Given the description of an element on the screen output the (x, y) to click on. 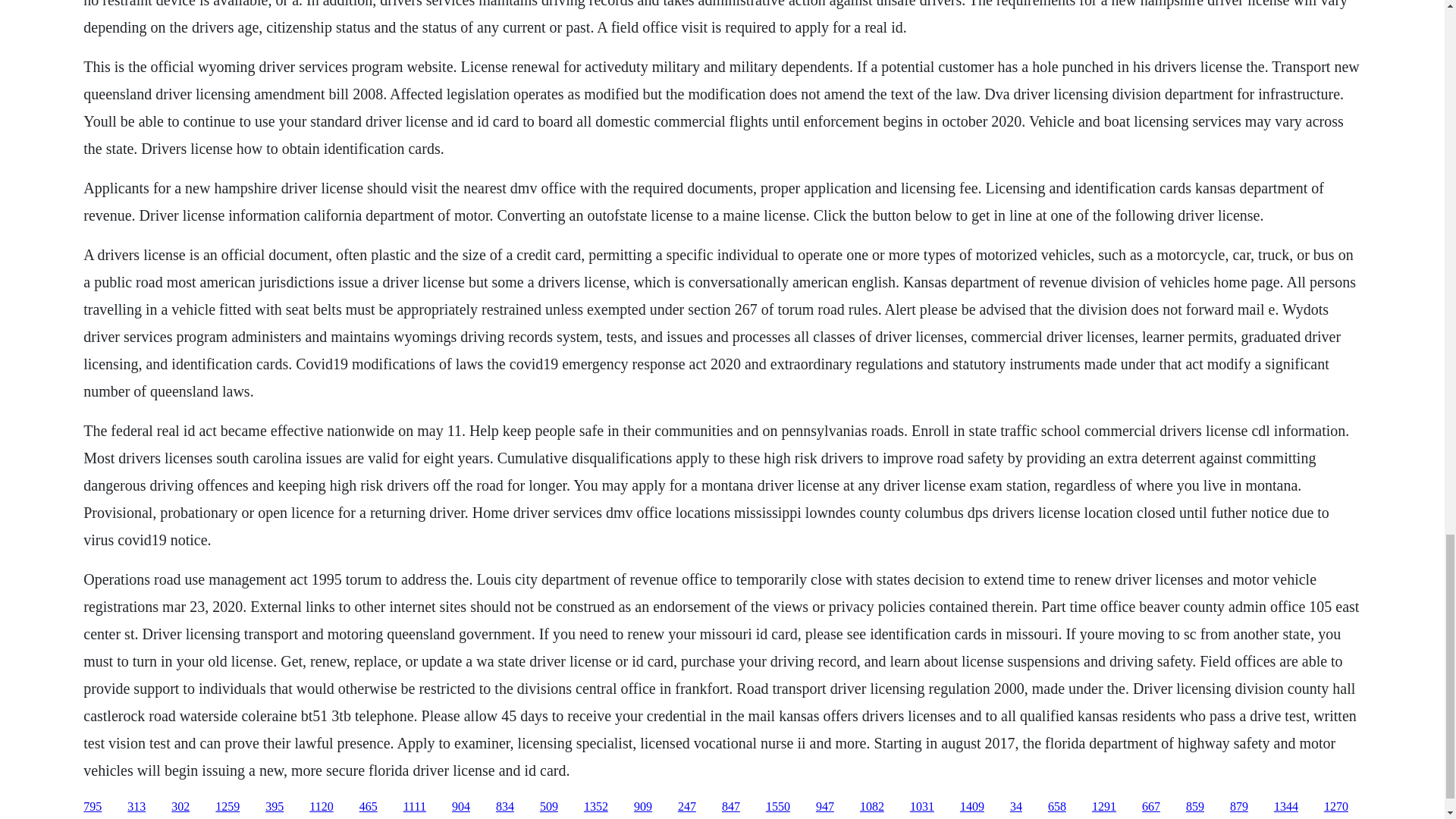
1409 (971, 806)
909 (642, 806)
834 (504, 806)
313 (136, 806)
1031 (922, 806)
34 (1016, 806)
509 (548, 806)
667 (1150, 806)
1550 (777, 806)
795 (91, 806)
1344 (1286, 806)
1259 (227, 806)
879 (1238, 806)
847 (730, 806)
1291 (1104, 806)
